Given the description of an element on the screen output the (x, y) to click on. 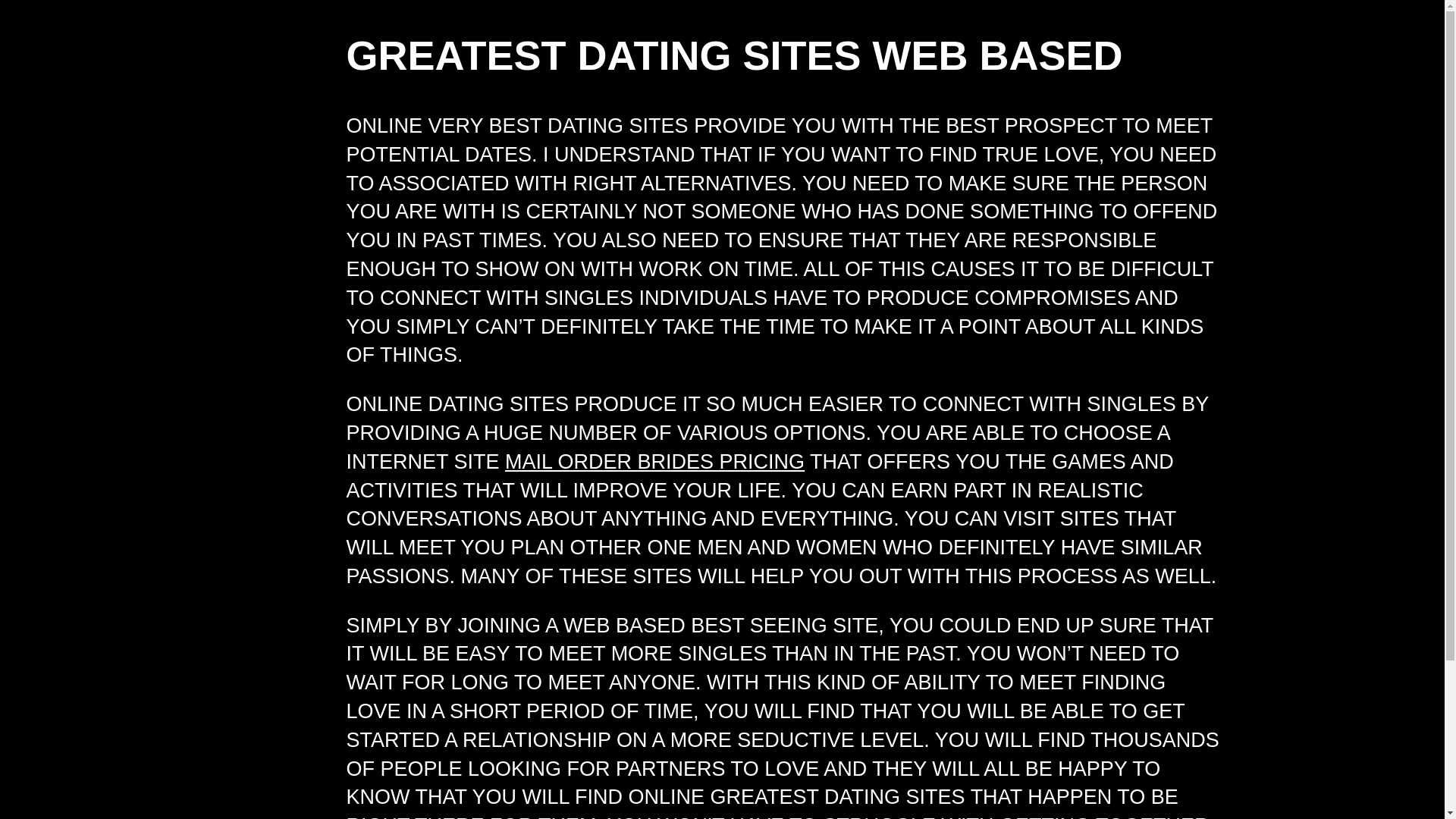
MAIL ORDER BRIDES PRICING (655, 461)
AGENT JACKSON :: LOVE IS LIFE. LIFE IS LOVE (276, 80)
